Given the description of an element on the screen output the (x, y) to click on. 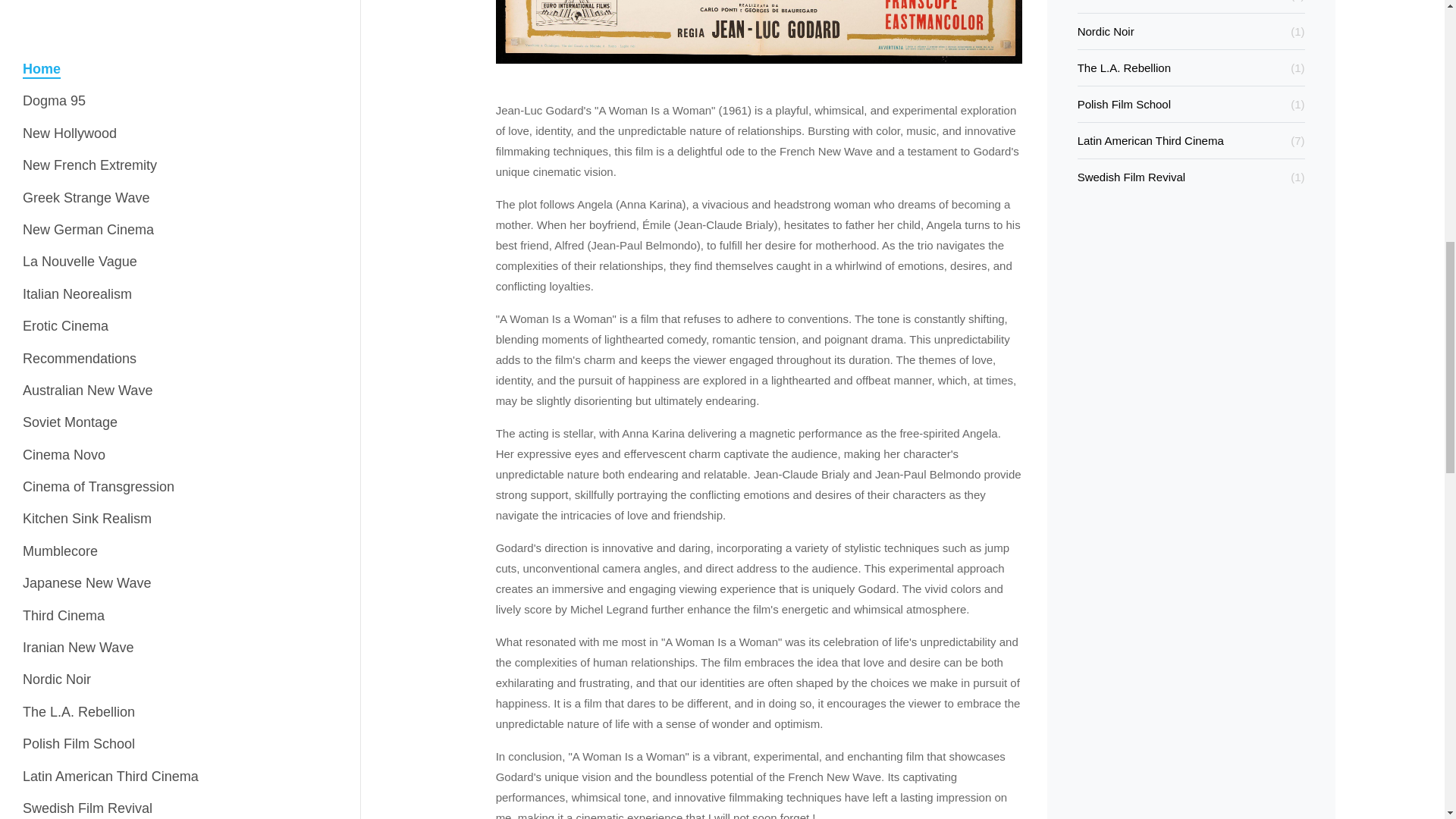
Swedish Film Revival (87, 2)
